Given the description of an element on the screen output the (x, y) to click on. 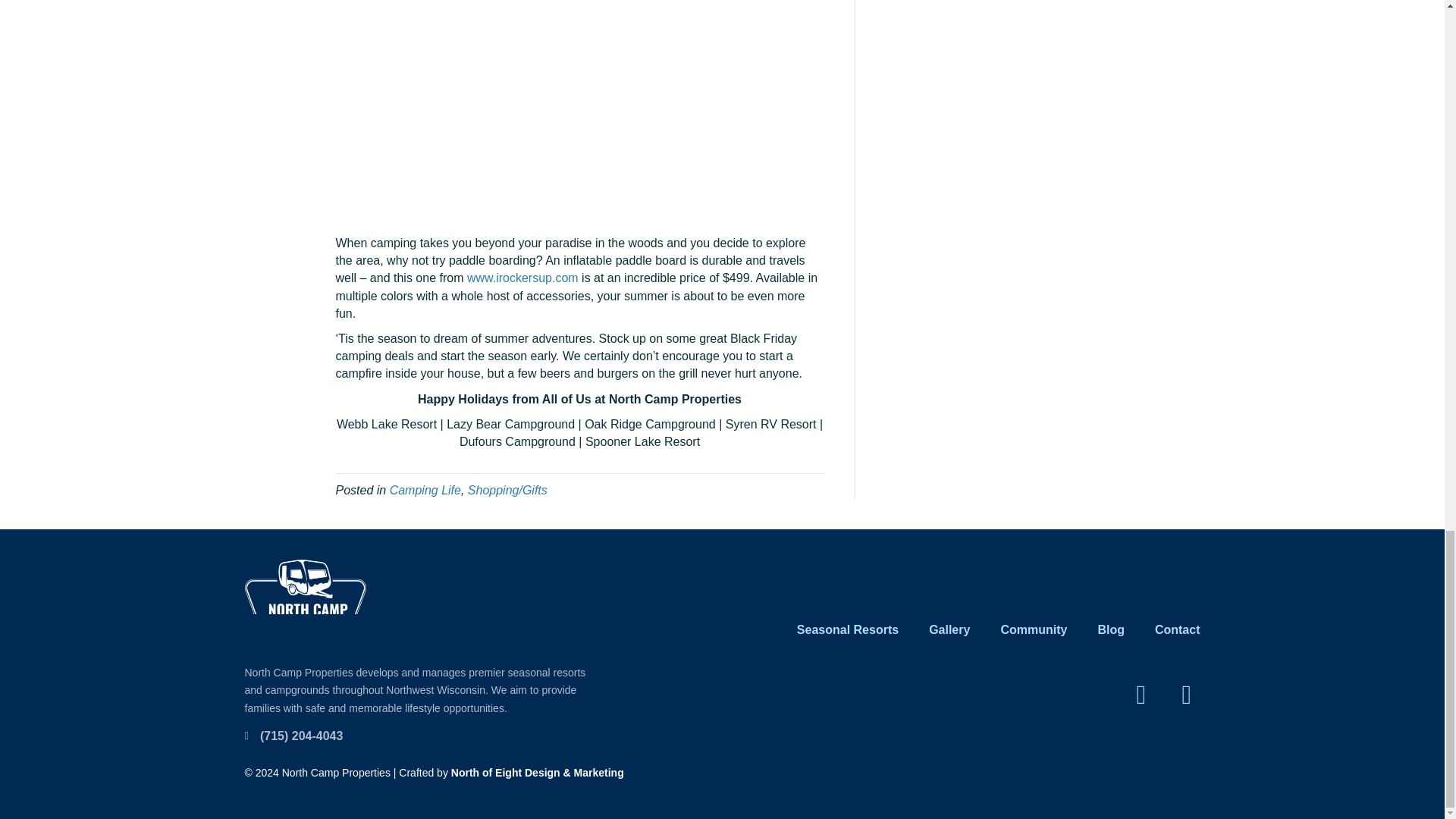
Camping Life (425, 490)
Community (1033, 629)
Seasonal Resorts (848, 629)
Contact (1176, 629)
Gallery (949, 629)
Blog (1110, 629)
www.irockersup.com (522, 277)
